Given the description of an element on the screen output the (x, y) to click on. 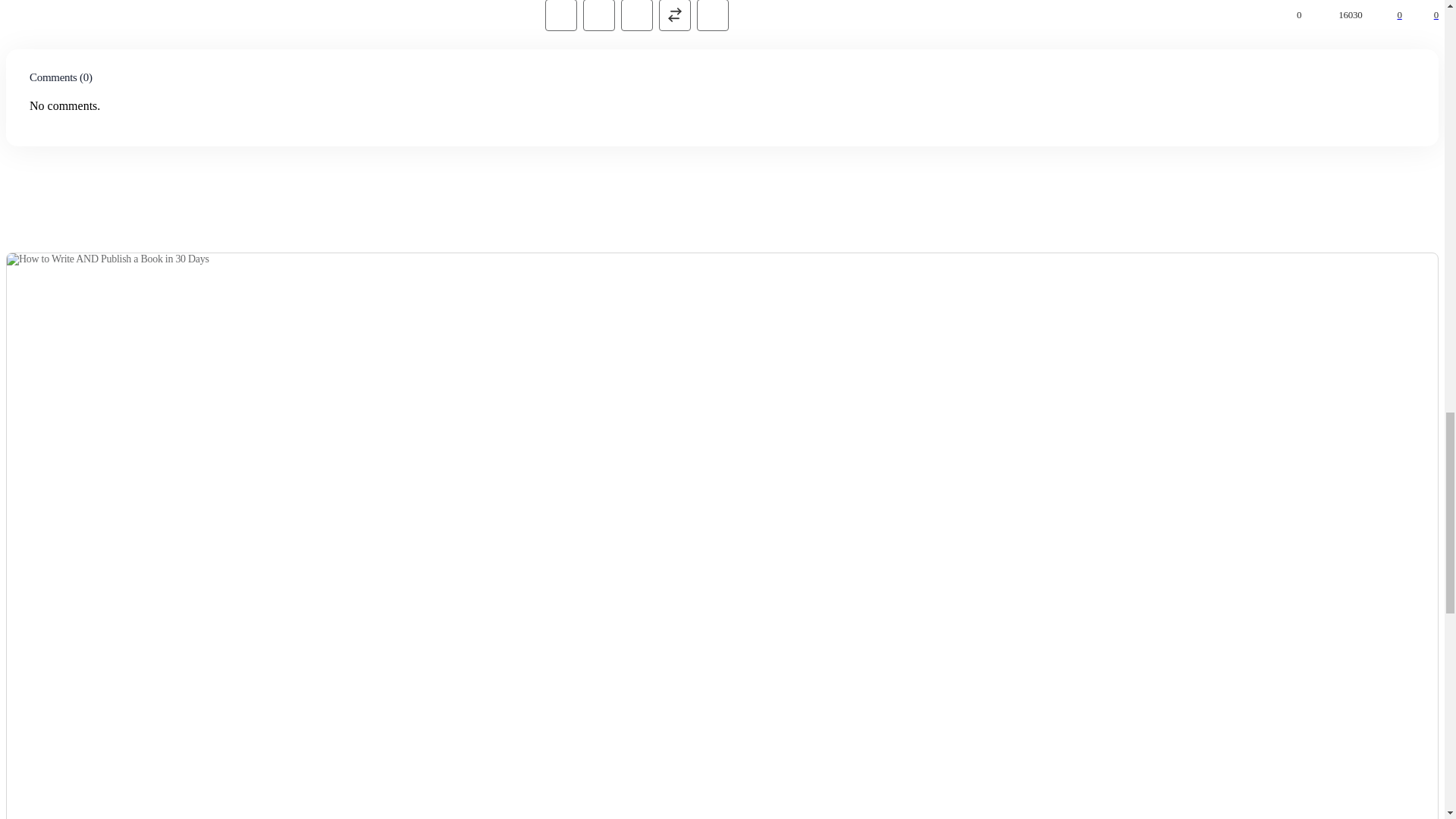
0 (1380, 14)
